Given the description of an element on the screen output the (x, y) to click on. 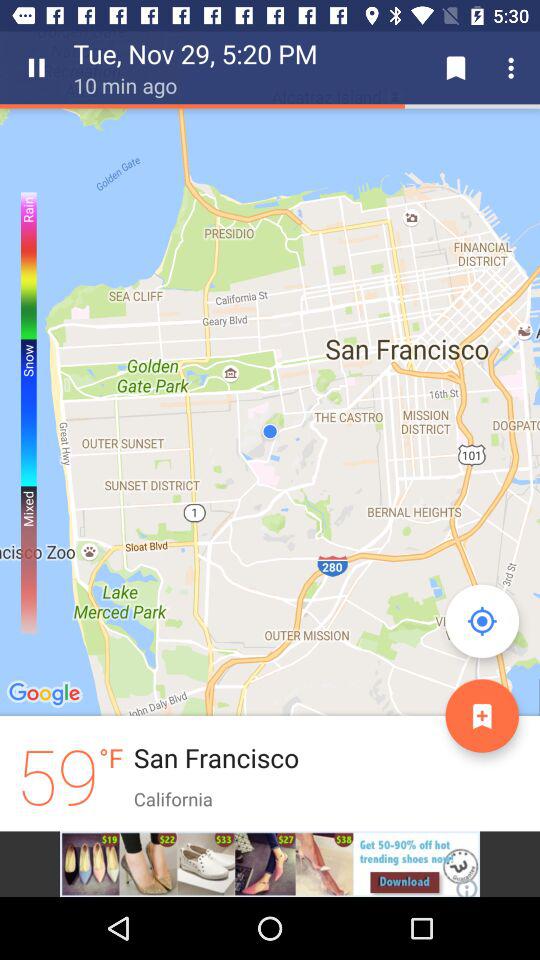
open advertisement (270, 864)
